Given the description of an element on the screen output the (x, y) to click on. 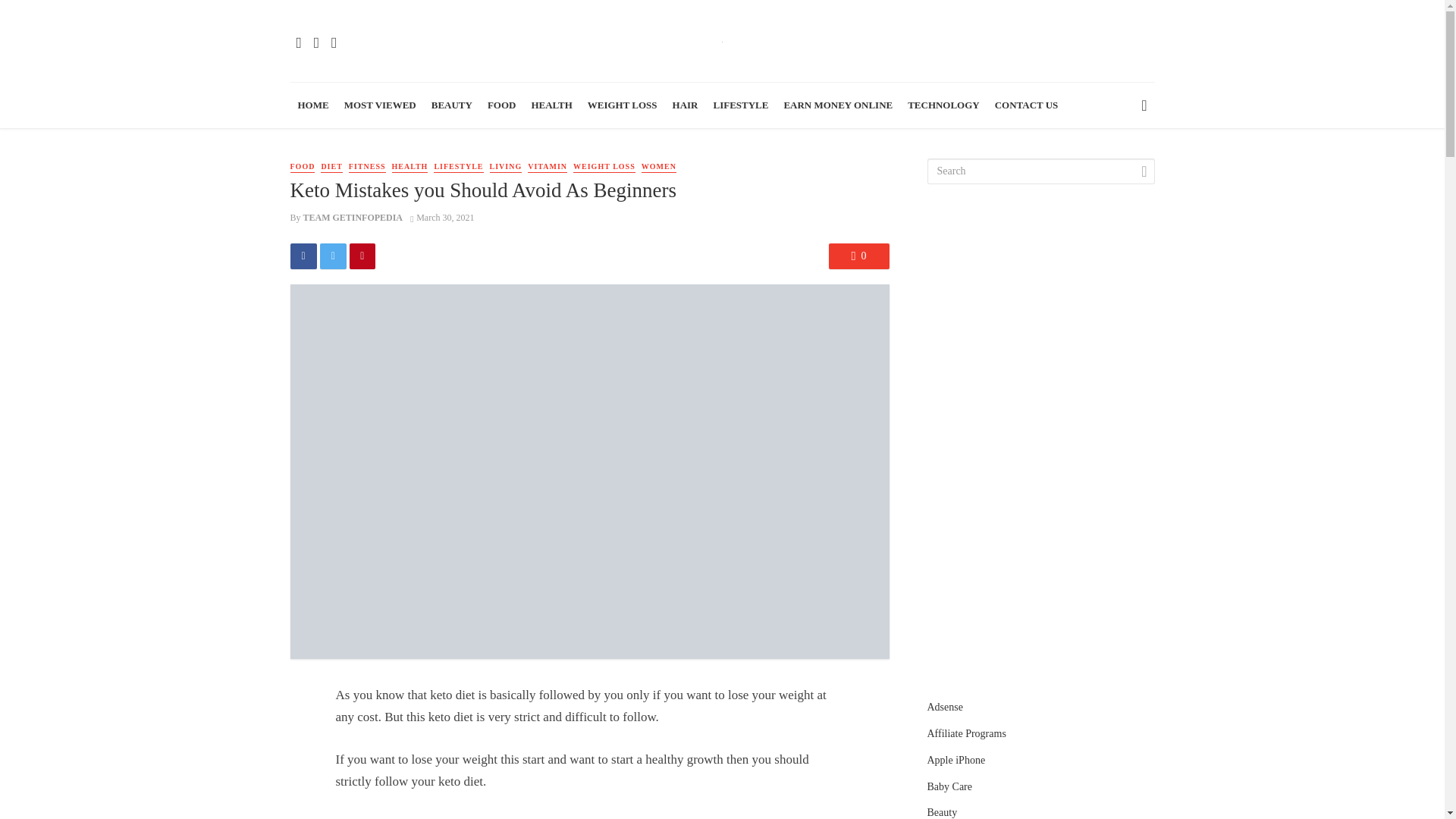
Posts by Team Getinfopedia (352, 217)
Share on Pinterest (362, 256)
FITNESS (367, 166)
FOOD (301, 166)
LIFESTYLE (458, 166)
March 30, 2021 at 4:46 pm (442, 217)
VITAMIN (547, 166)
0 Comments (858, 256)
HAIR (685, 104)
LIFESTYLE (740, 104)
TECHNOLOGY (943, 104)
FOOD (502, 104)
DIET (331, 166)
WOMEN (659, 166)
HEALTH (550, 104)
